Given the description of an element on the screen output the (x, y) to click on. 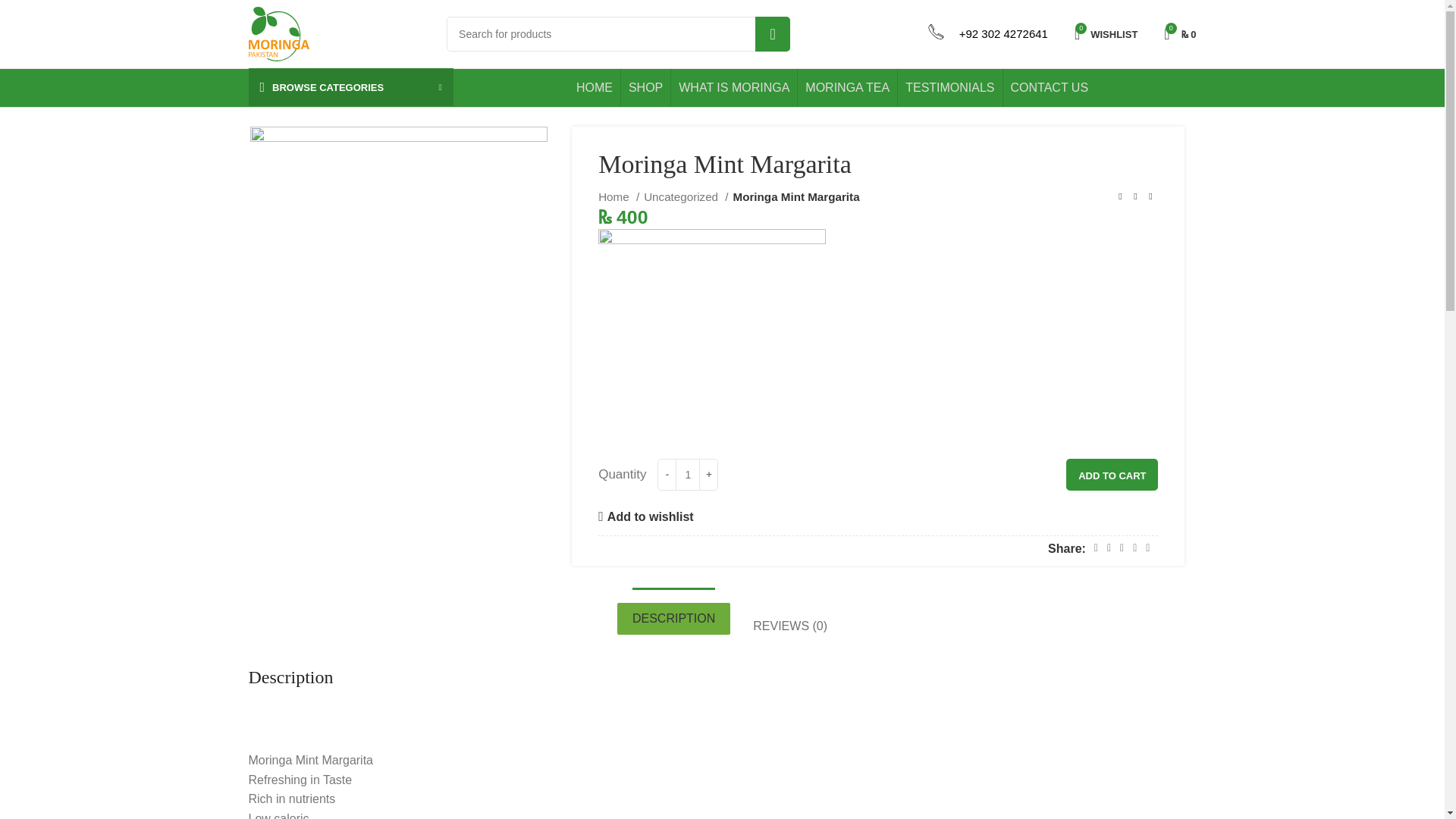
My Wishlist (1105, 33)
Shopping cart (1180, 33)
HOME (594, 87)
MORINGA TEA (847, 87)
TESTIMONIALS (949, 87)
Search for products (618, 33)
Add to wishlist (645, 517)
Uncategorized (685, 197)
Home (618, 197)
WHAT IS MORINGA (733, 87)
